Given the description of an element on the screen output the (x, y) to click on. 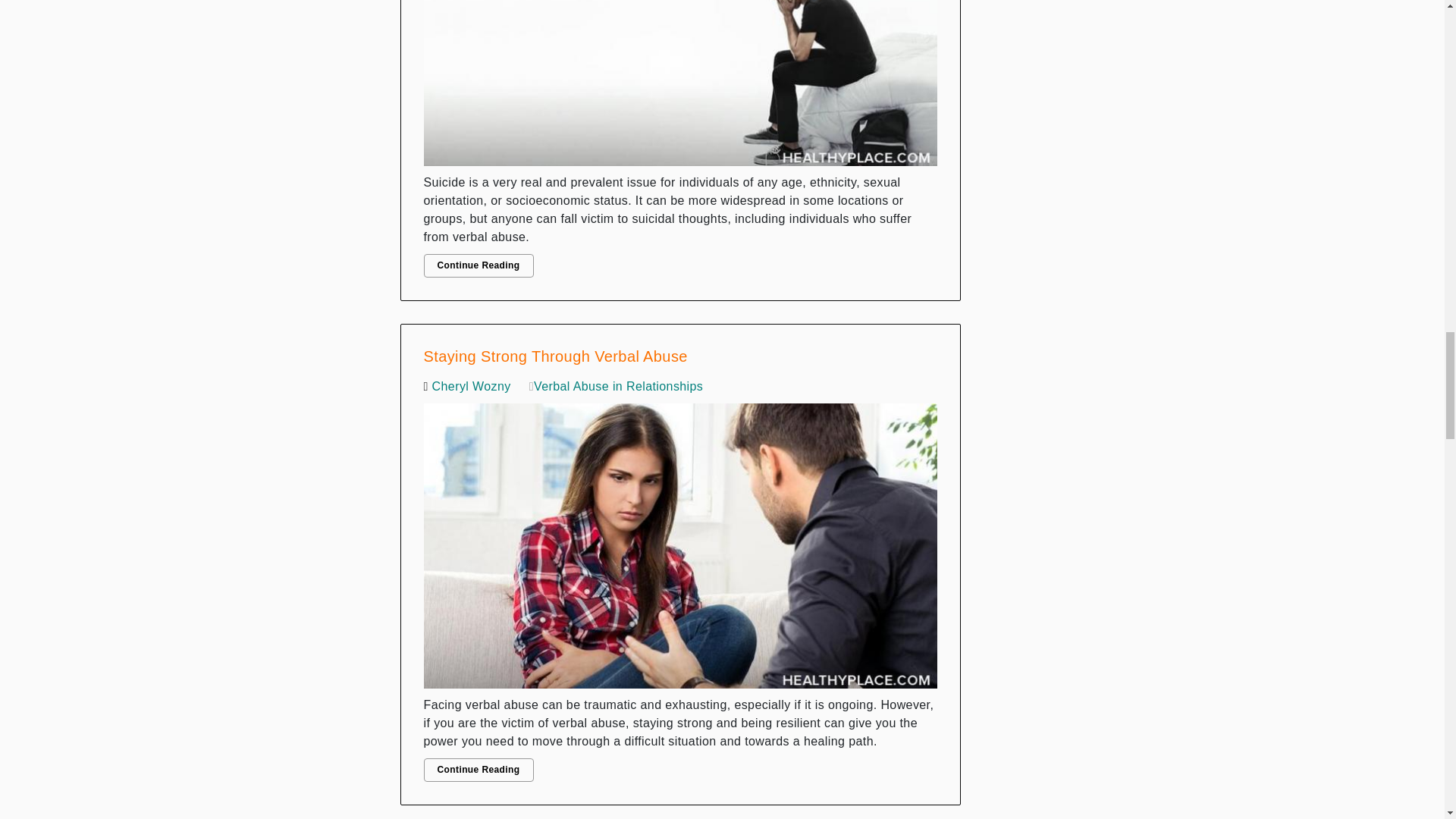
Verbal Abuse and Suicide (680, 86)
